Given the description of an element on the screen output the (x, y) to click on. 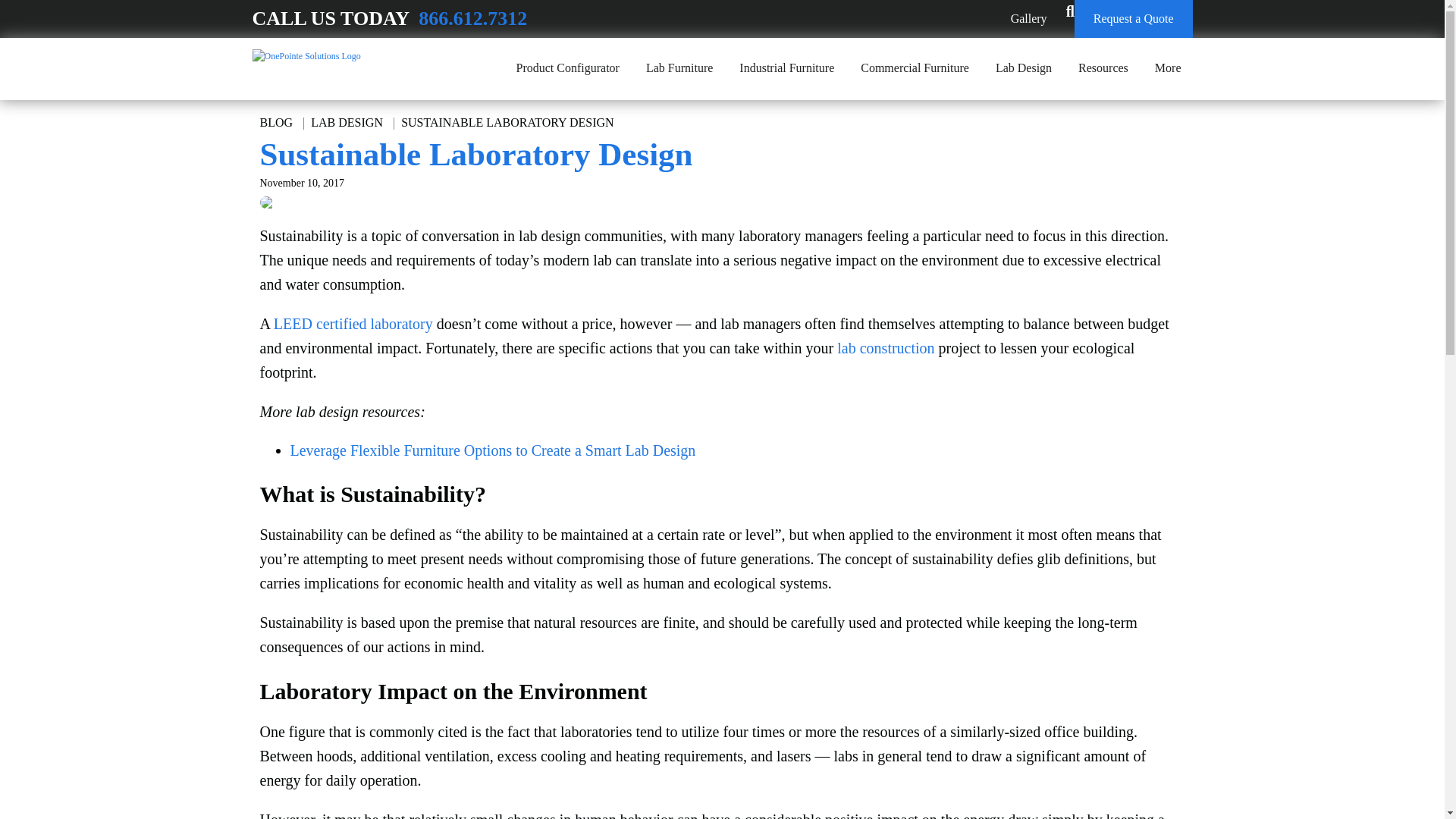
Go Home (305, 56)
